Given the description of an element on the screen output the (x, y) to click on. 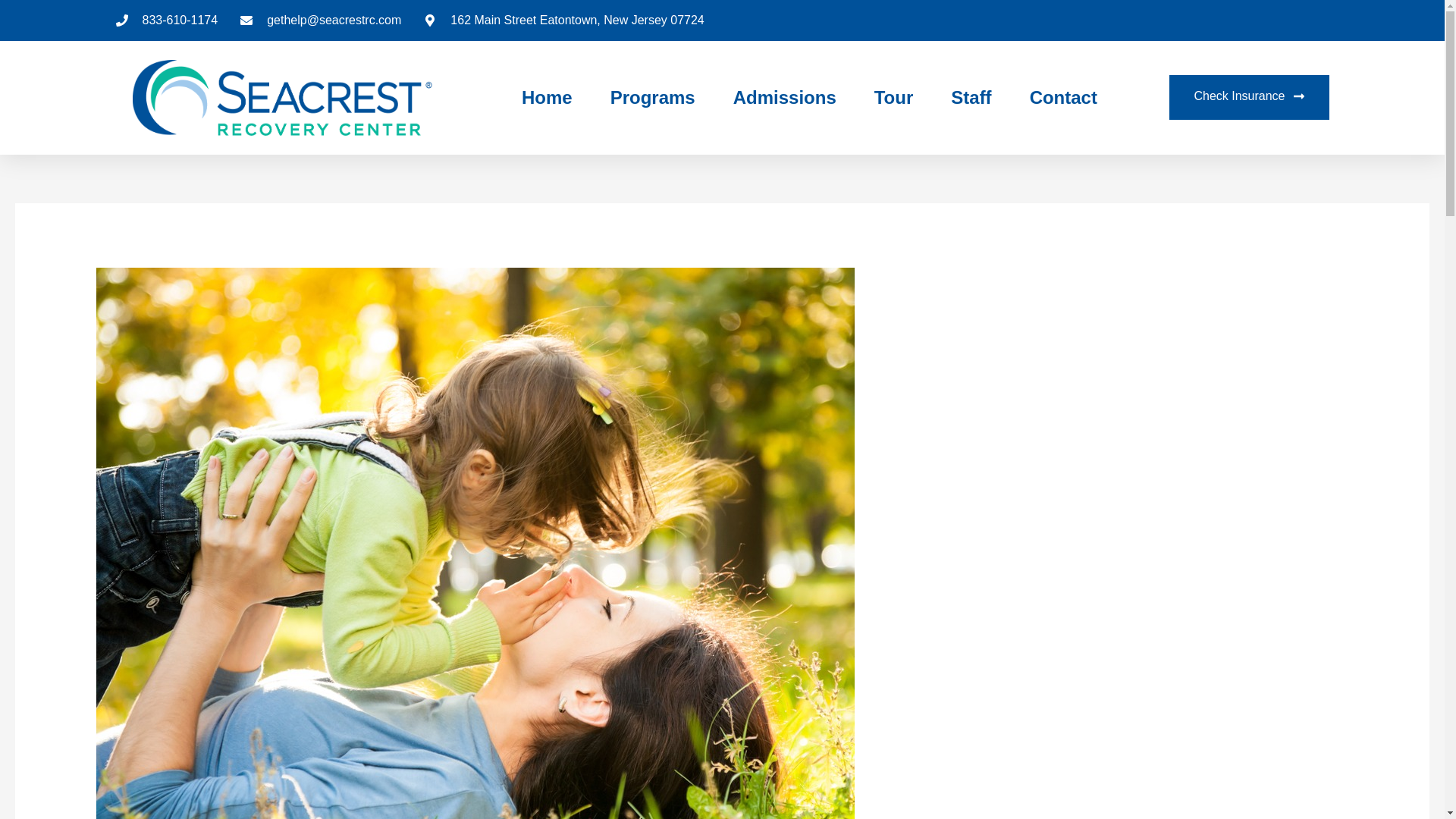
Home (546, 97)
Staff (970, 97)
Contact (1063, 97)
Tour (894, 97)
833-610-1174 (165, 20)
Programs (652, 97)
Admissions (784, 97)
Check Insurance (1248, 97)
